Given the description of an element on the screen output the (x, y) to click on. 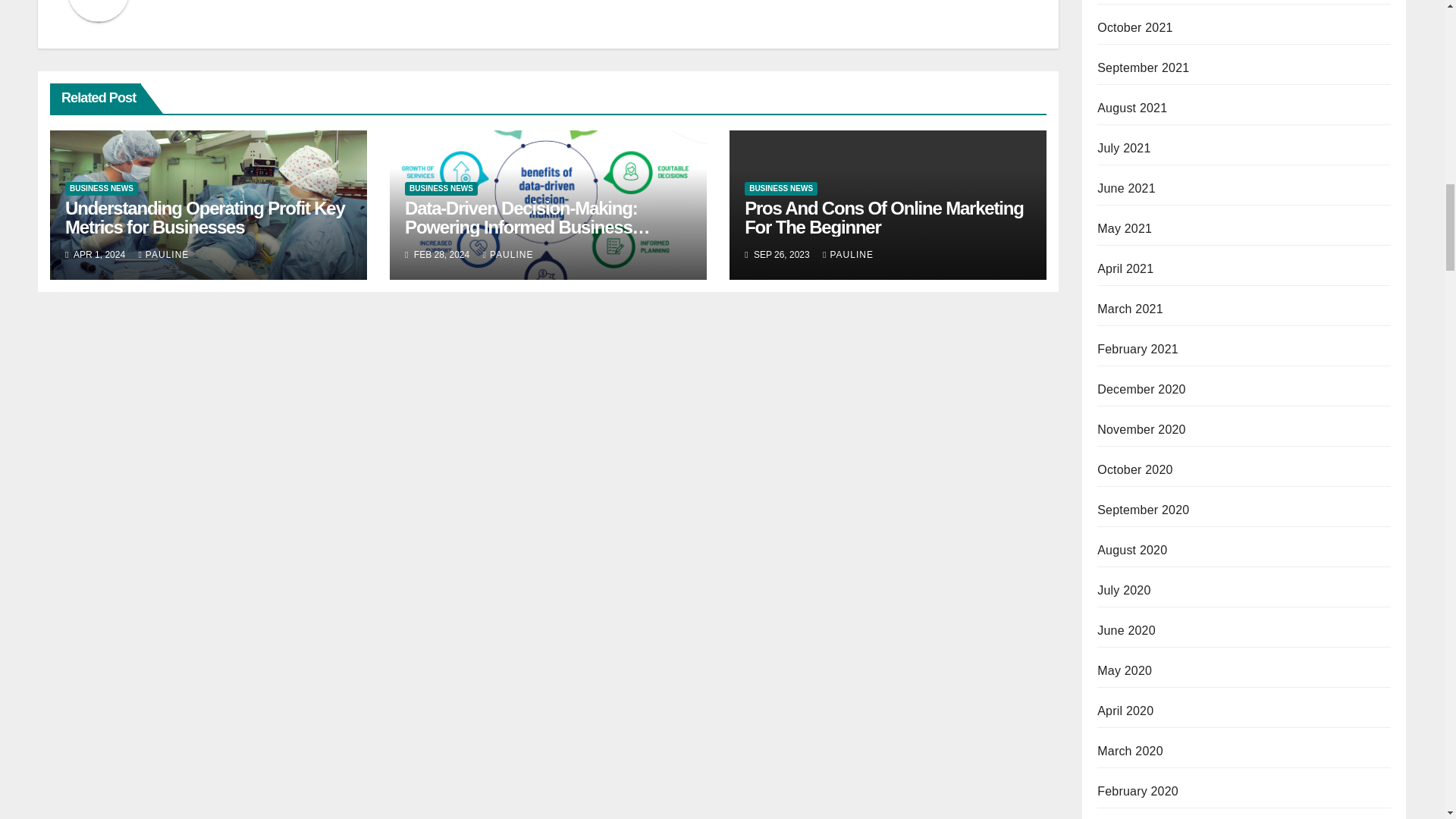
PAULINE (508, 254)
BUSINESS NEWS (780, 188)
Pros And Cons Of Online Marketing For The Beginner (883, 217)
BUSINESS NEWS (440, 188)
Understanding Operating Profit Key Metrics for Businesses (205, 217)
BUSINESS NEWS (101, 188)
PAULINE (163, 254)
